Given the description of an element on the screen output the (x, y) to click on. 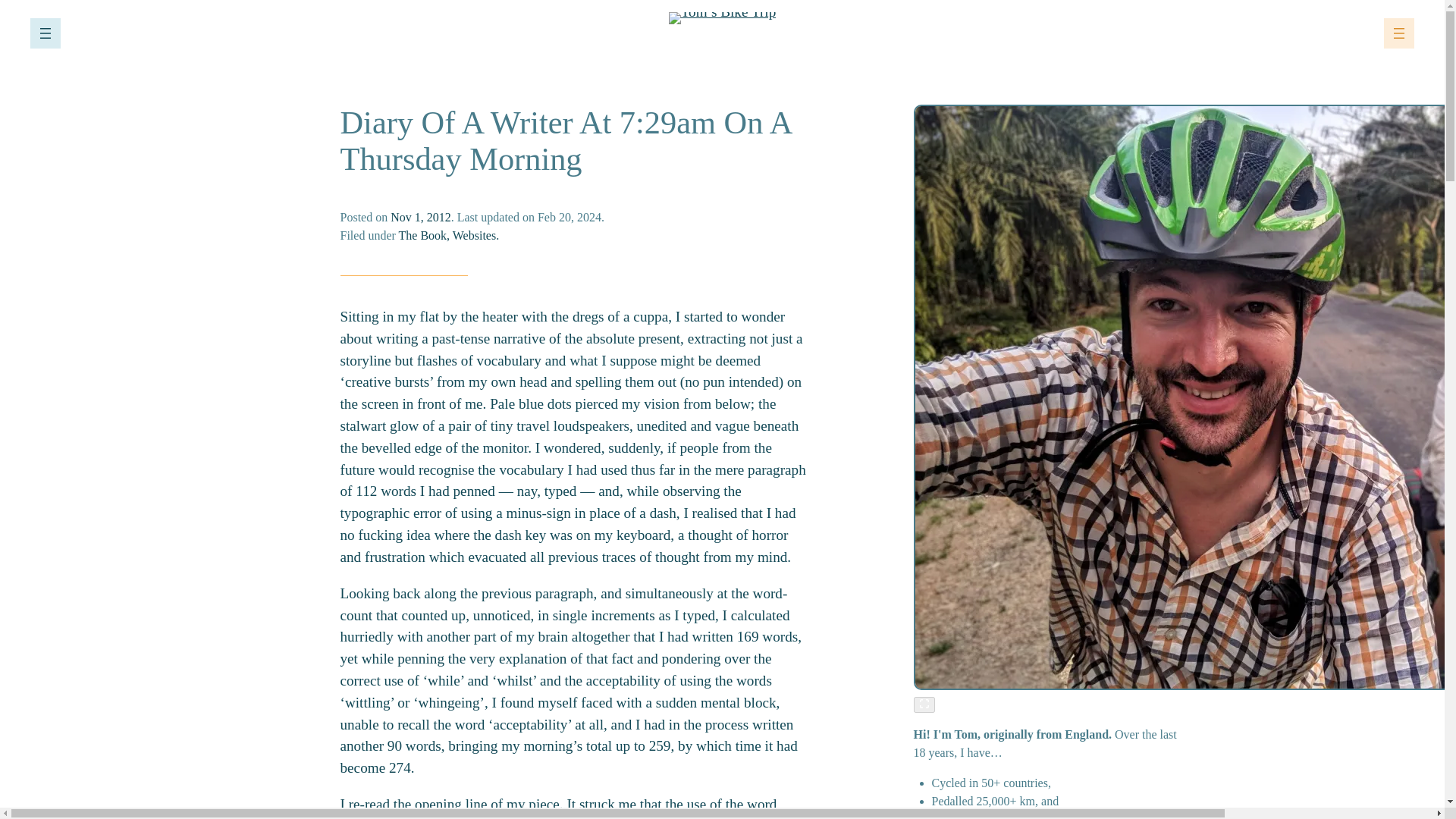
Nov 1, 2012 (420, 216)
Websites (474, 235)
The Book (422, 235)
